Given the description of an element on the screen output the (x, y) to click on. 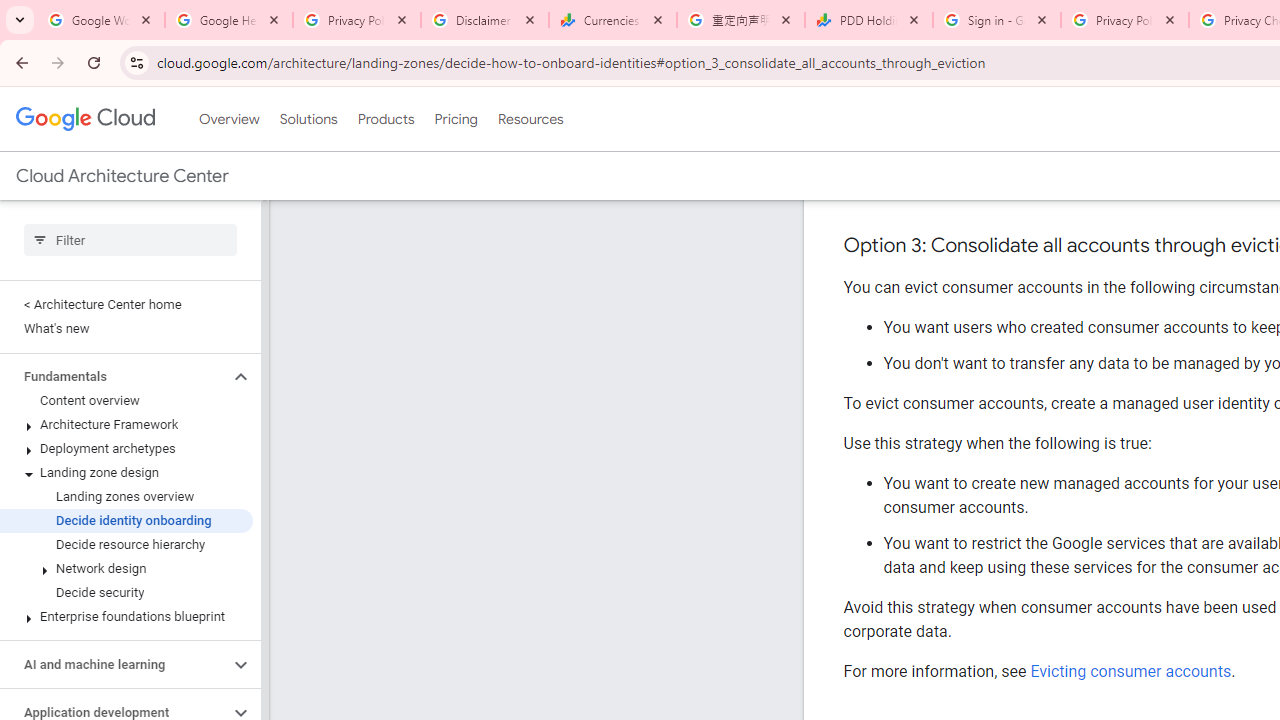
Decide resource hierarchy (126, 544)
Pricing (455, 119)
Evicting consumer accounts (1130, 671)
Google Workspace Admin Community (101, 20)
Resources (530, 119)
Landing zones overview (126, 497)
Cloud Architecture Center (122, 175)
< Architecture Center home (126, 304)
Deployment archetypes (126, 448)
Type to filter (130, 239)
